Given the description of an element on the screen output the (x, y) to click on. 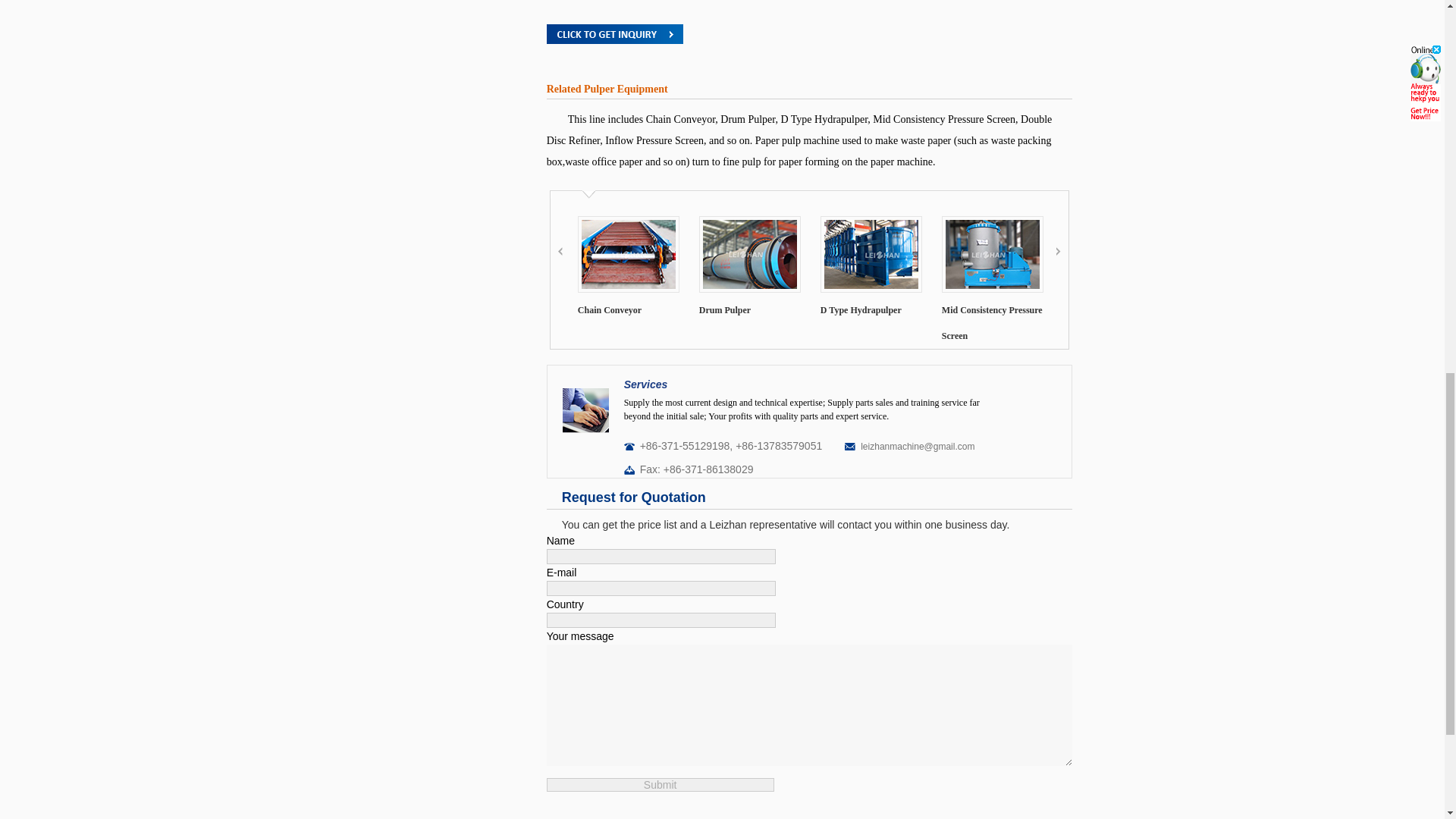
Submit (660, 784)
chat online (614, 36)
